Given the description of an element on the screen output the (x, y) to click on. 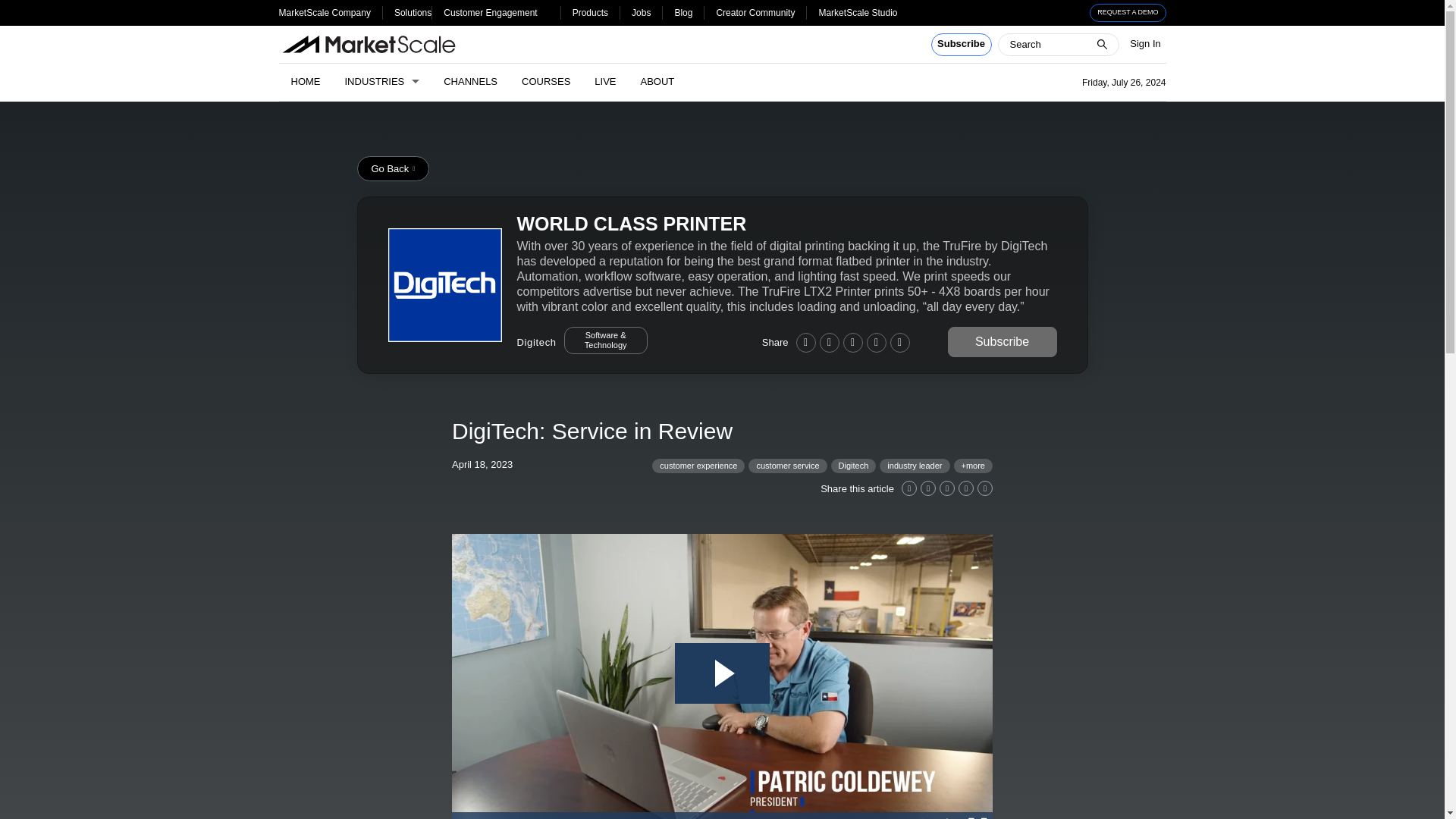
Share on Email (966, 488)
REQUEST A DEMO (1127, 13)
Share on Linkedin (909, 488)
Solutions (412, 12)
Products (590, 12)
Mute (916, 815)
Search (21, 7)
Share on Linkedin (805, 342)
Copy Link (899, 342)
Share on Facebook (947, 488)
Customer Engagement (490, 12)
Share on X (828, 342)
Share on X (928, 488)
Subscribe (961, 44)
Show settings menu (946, 815)
